Given the description of an element on the screen output the (x, y) to click on. 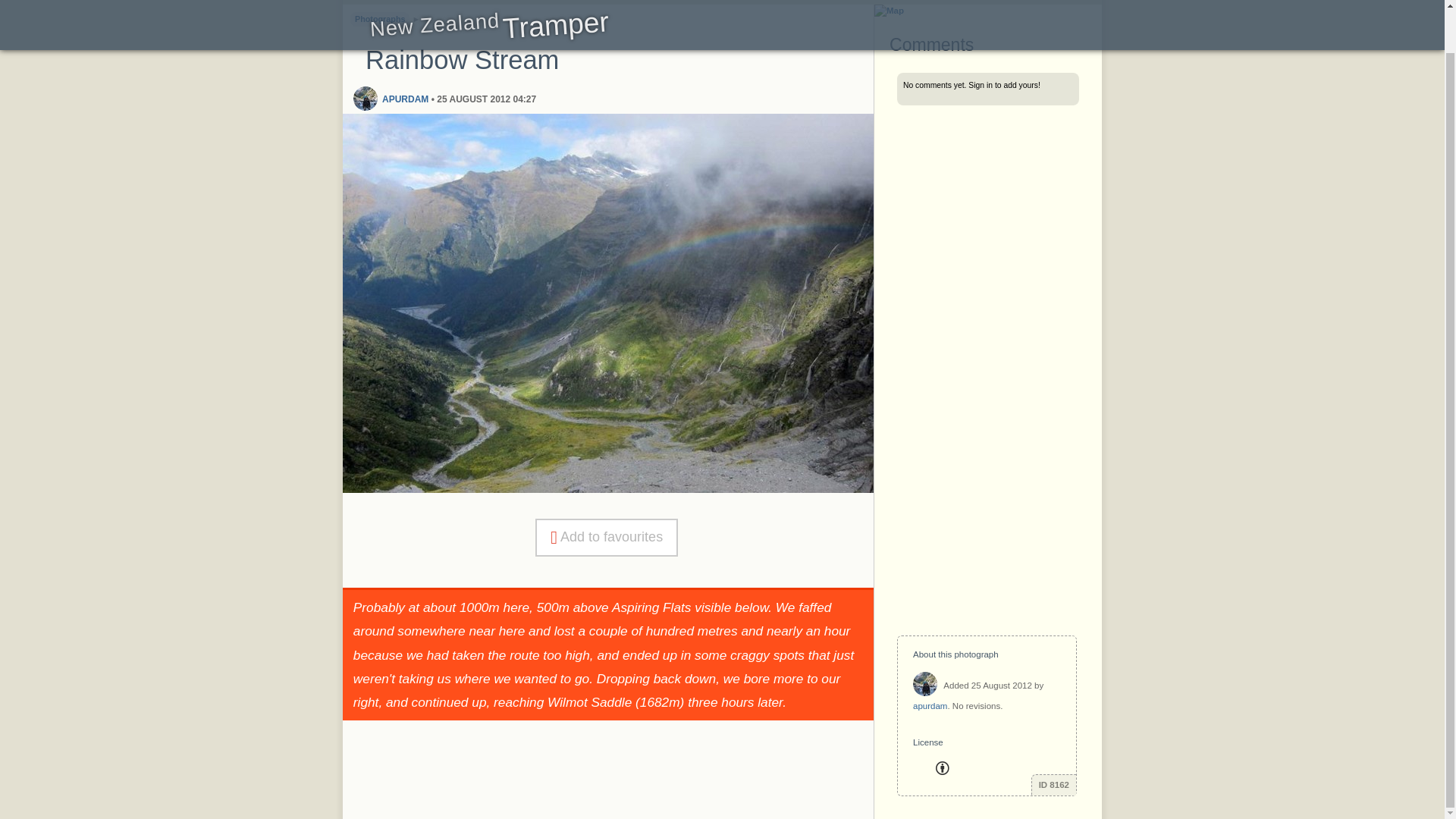
View larger map (889, 10)
View original image (607, 489)
